Given the description of an element on the screen output the (x, y) to click on. 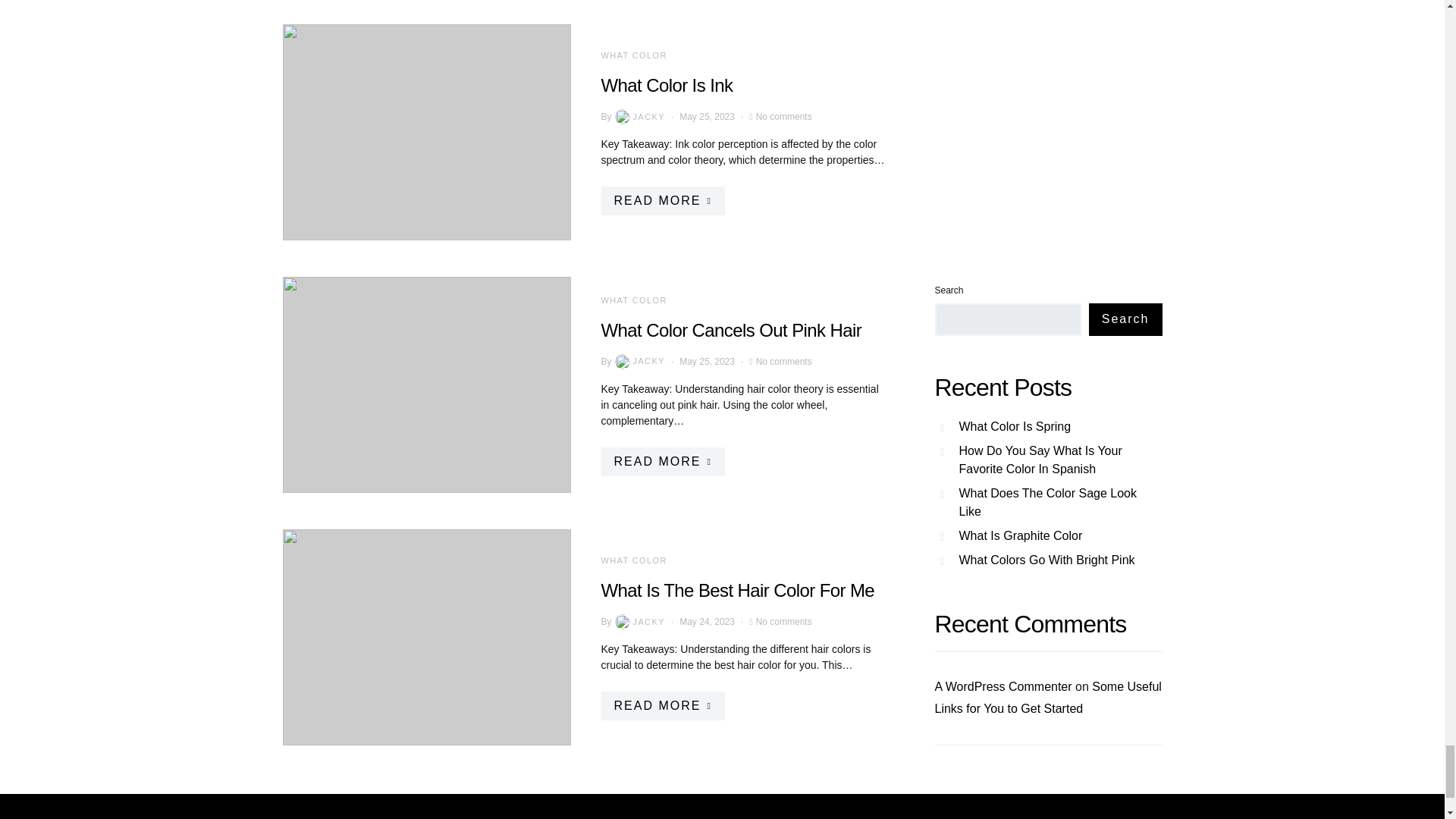
View all posts by Jacky (638, 116)
View all posts by Jacky (638, 360)
View all posts by Jacky (638, 621)
